Given the description of an element on the screen output the (x, y) to click on. 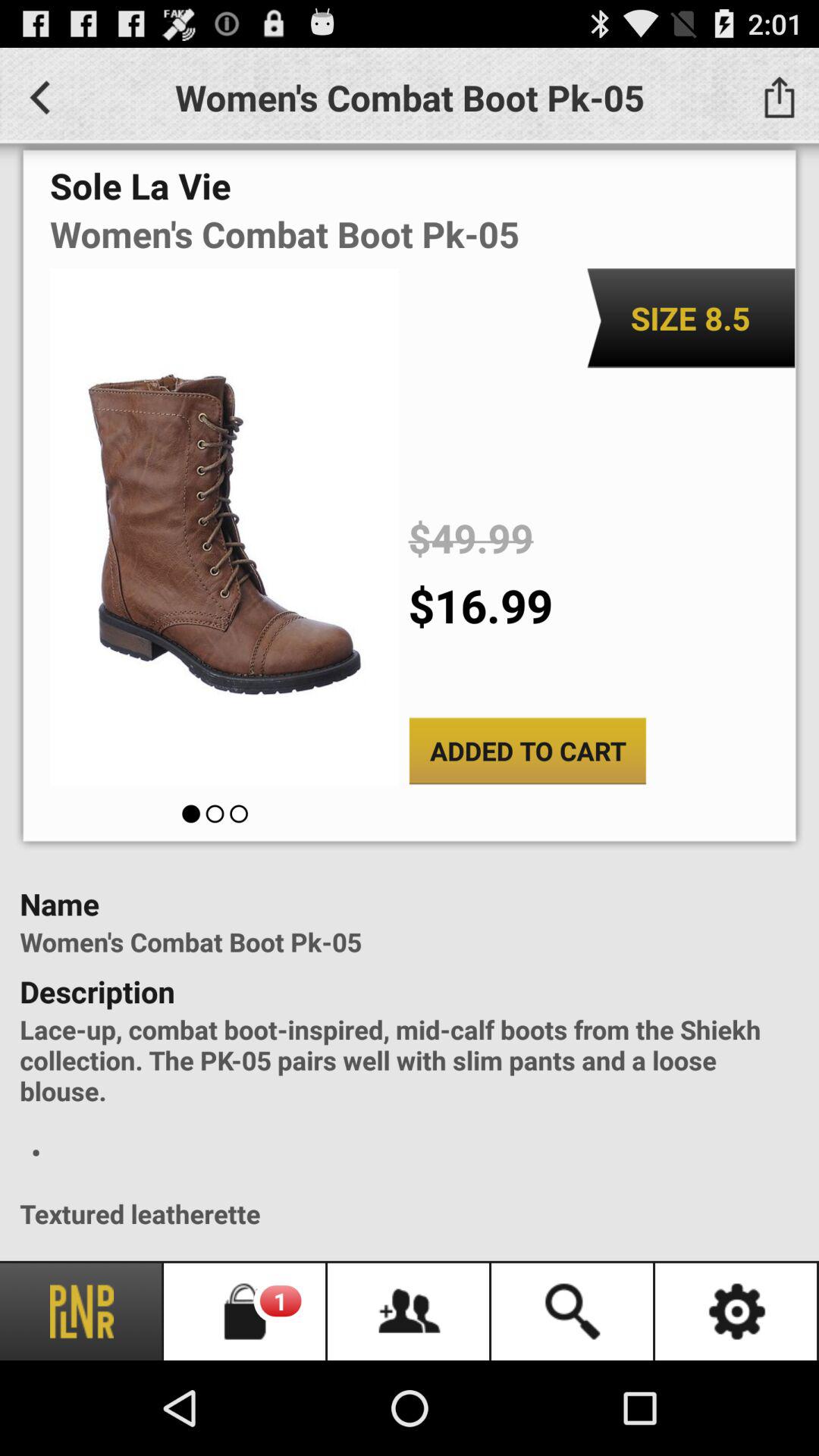
choose the item below women s combat app (690, 317)
